Given the description of an element on the screen output the (x, y) to click on. 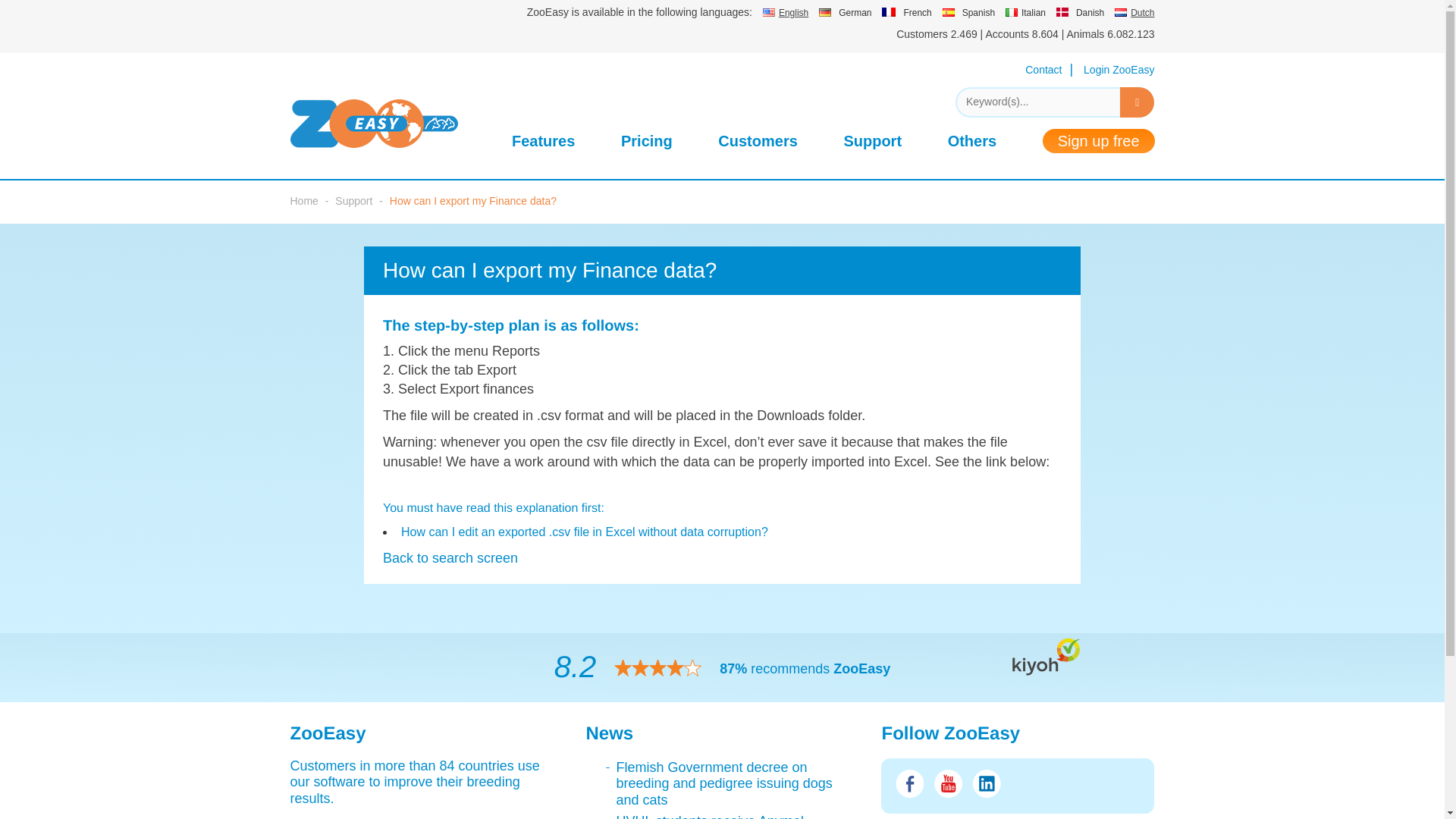
Animal breeding software (389, 123)
Dutch (1134, 11)
Features (543, 144)
Login ZooEasy (1118, 69)
English (785, 11)
Contact (1043, 69)
